Given the description of an element on the screen output the (x, y) to click on. 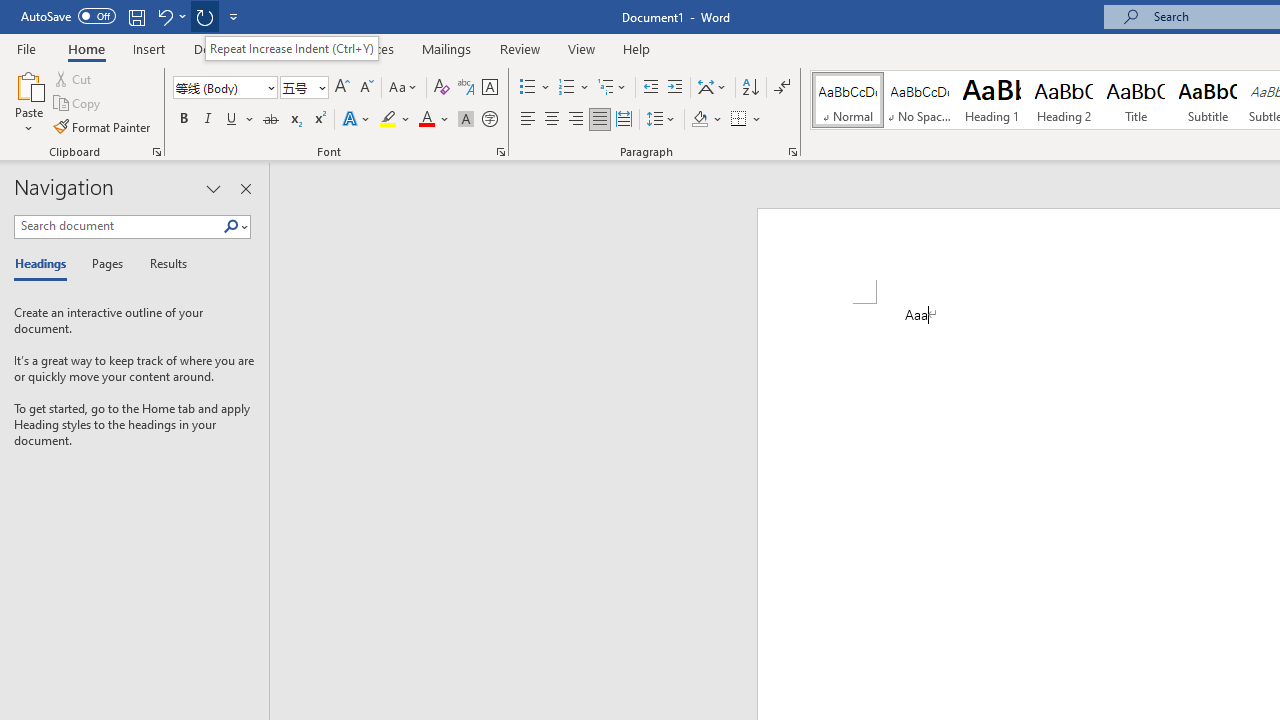
Undo Increase Indent (170, 15)
